Given the description of an element on the screen output the (x, y) to click on. 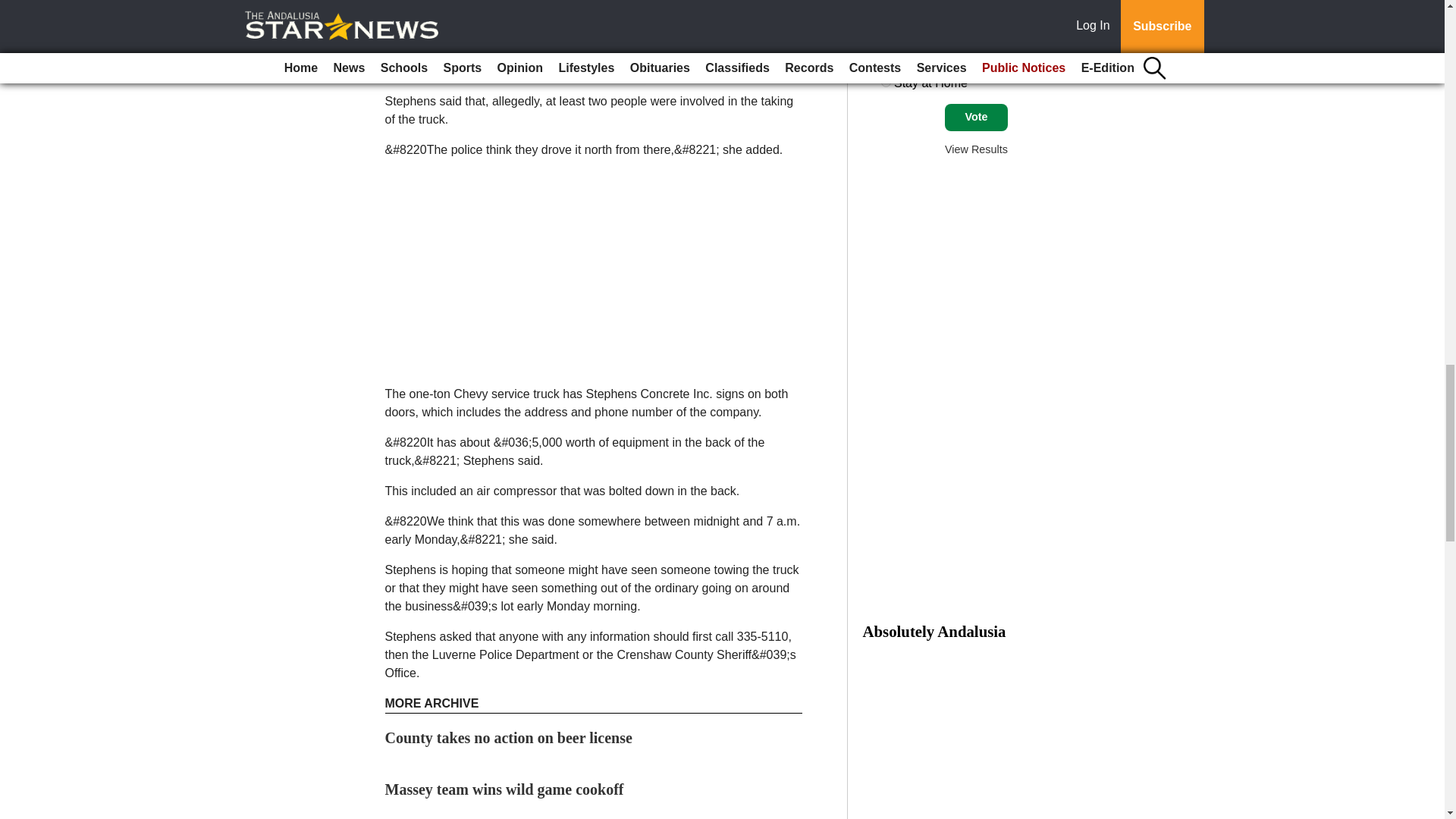
Massey team wins wild game cookoff (504, 789)
749 (885, 81)
View Results Of This Poll (975, 149)
County takes no action on beer license (508, 737)
745 (885, 9)
748 (885, 63)
County takes no action on beer license (508, 737)
   Vote    (975, 117)
View Results (975, 149)
Massey team wins wild game cookoff (504, 789)
747 (885, 45)
746 (885, 27)
